Given the description of an element on the screen output the (x, y) to click on. 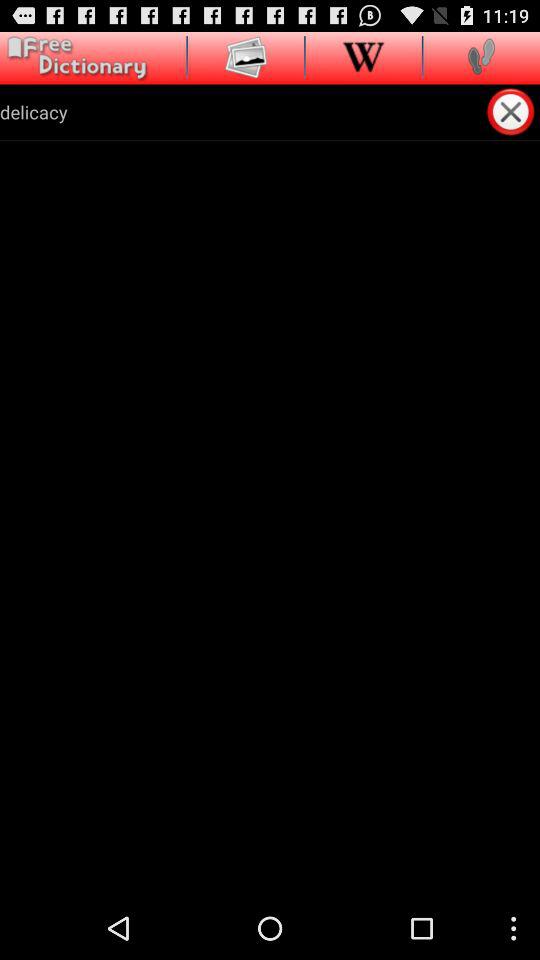
exit out (512, 111)
